Given the description of an element on the screen output the (x, y) to click on. 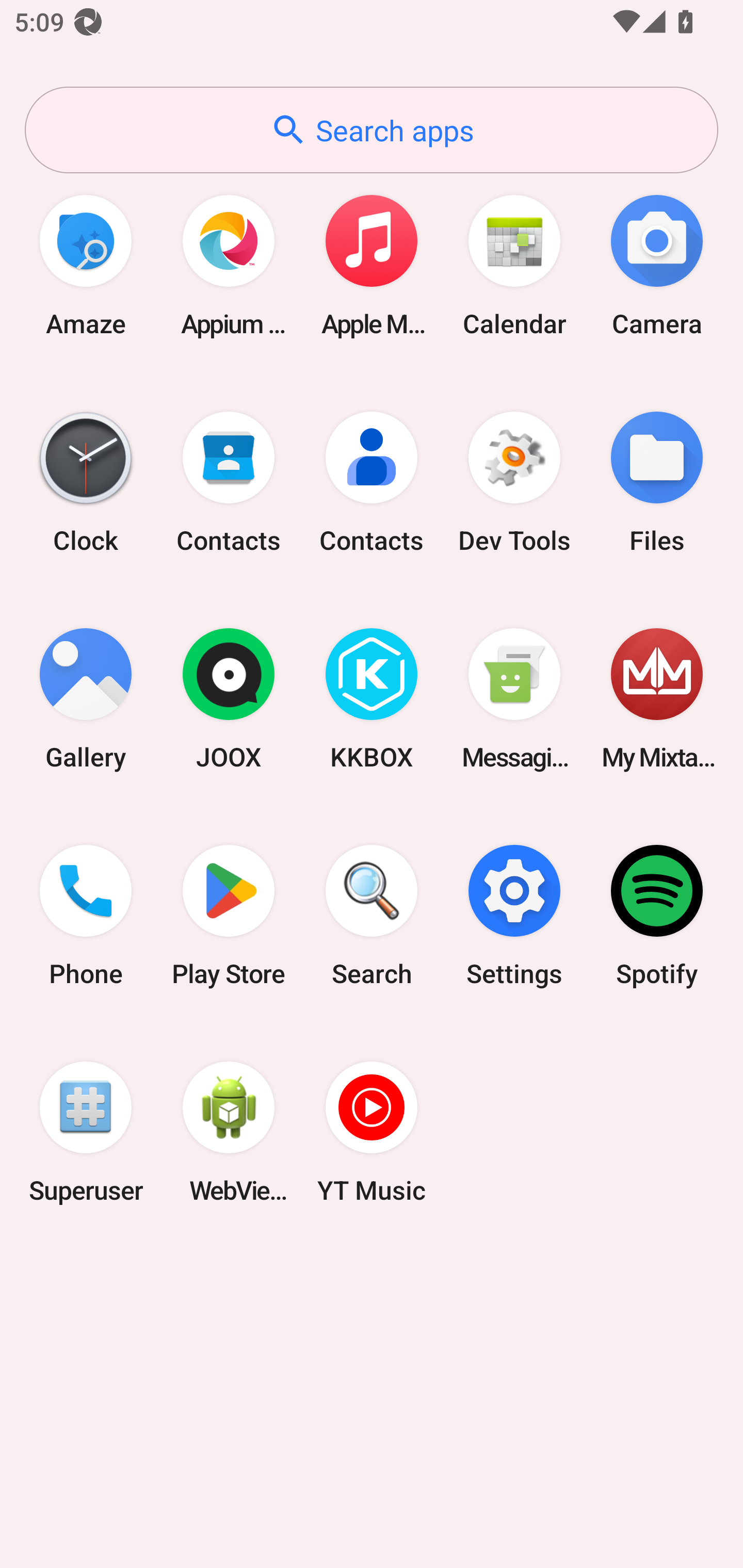
  Search apps (371, 130)
Amaze (85, 264)
Appium Settings (228, 264)
Apple Music (371, 264)
Calendar (514, 264)
Camera (656, 264)
Clock (85, 482)
Contacts (228, 482)
Contacts (371, 482)
Dev Tools (514, 482)
Files (656, 482)
Gallery (85, 699)
JOOX (228, 699)
KKBOX (371, 699)
Messaging (514, 699)
My Mixtapez (656, 699)
Phone (85, 915)
Play Store (228, 915)
Search (371, 915)
Settings (514, 915)
Spotify (656, 915)
Superuser (85, 1131)
WebView Browser Tester (228, 1131)
YT Music (371, 1131)
